Given the description of an element on the screen output the (x, y) to click on. 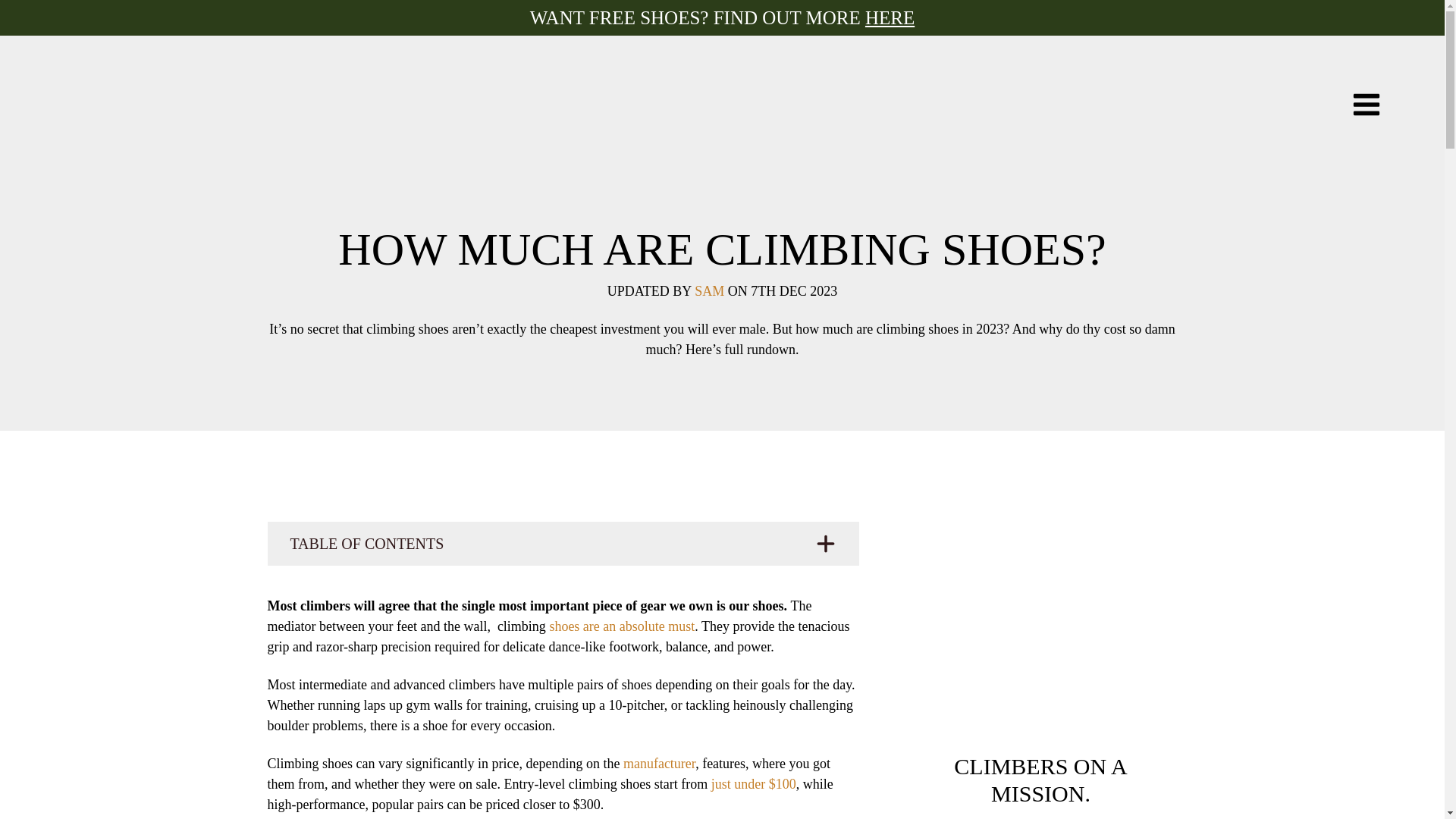
manufacturer (659, 763)
shoes are an absolute must (621, 626)
HERE (889, 17)
Main Menu (1365, 103)
SAM (708, 290)
